Given the description of an element on the screen output the (x, y) to click on. 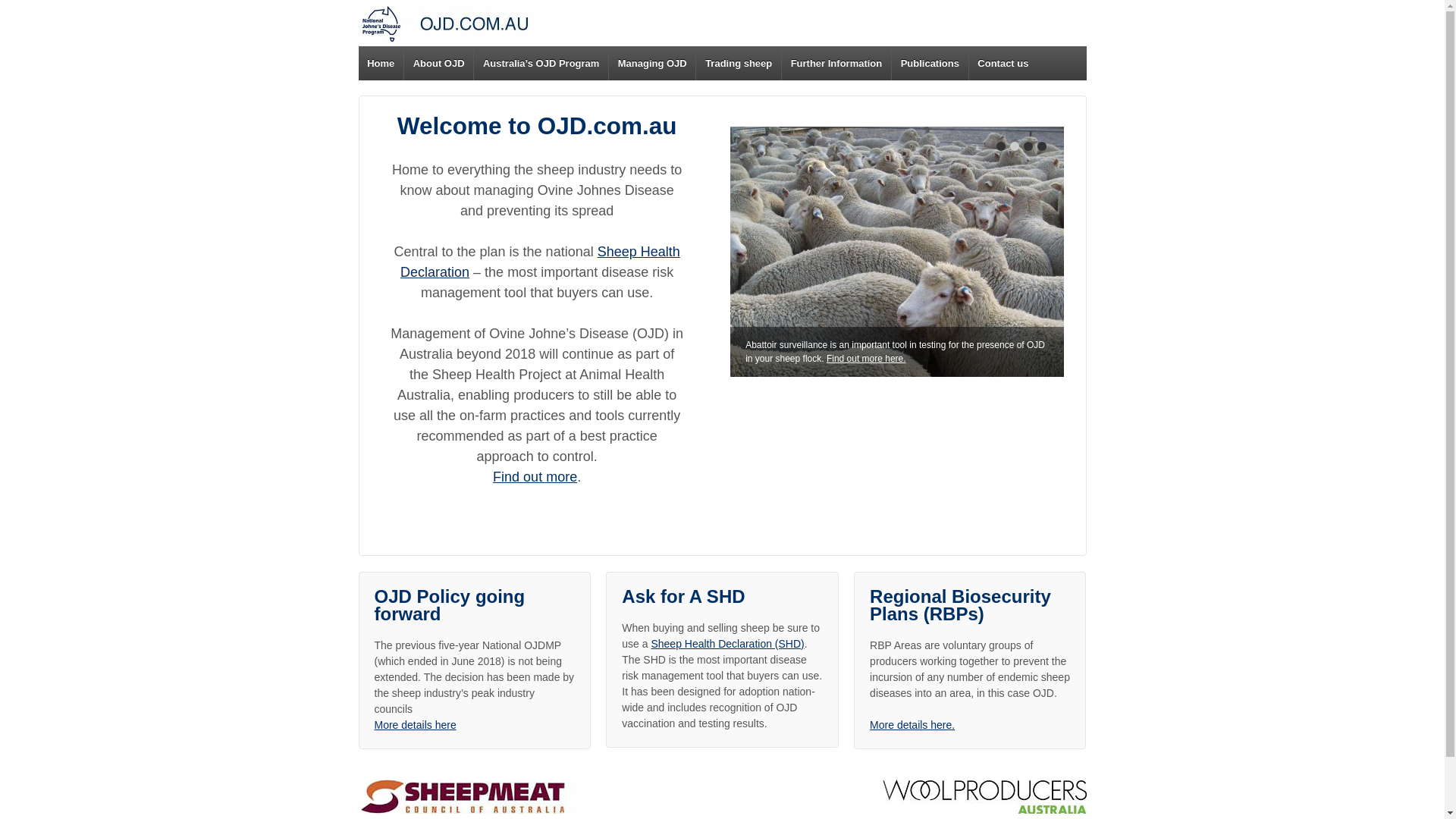
Home Element type: text (380, 63)
More details here. Element type: text (911, 724)
More details here Element type: text (415, 724)
Further Information Element type: text (836, 63)
Find out more here. Element type: text (866, 358)
Find out more Element type: text (534, 476)
About OJD Element type: text (438, 63)
Sheep Health Declaration Element type: text (540, 261)
Publications Element type: text (929, 63)
Managing OJD Element type: text (651, 63)
Sheep Health Declaration (SHD) Element type: text (726, 643)
Contact us Element type: text (1003, 63)
Trading sheep Element type: text (738, 63)
